Given the description of an element on the screen output the (x, y) to click on. 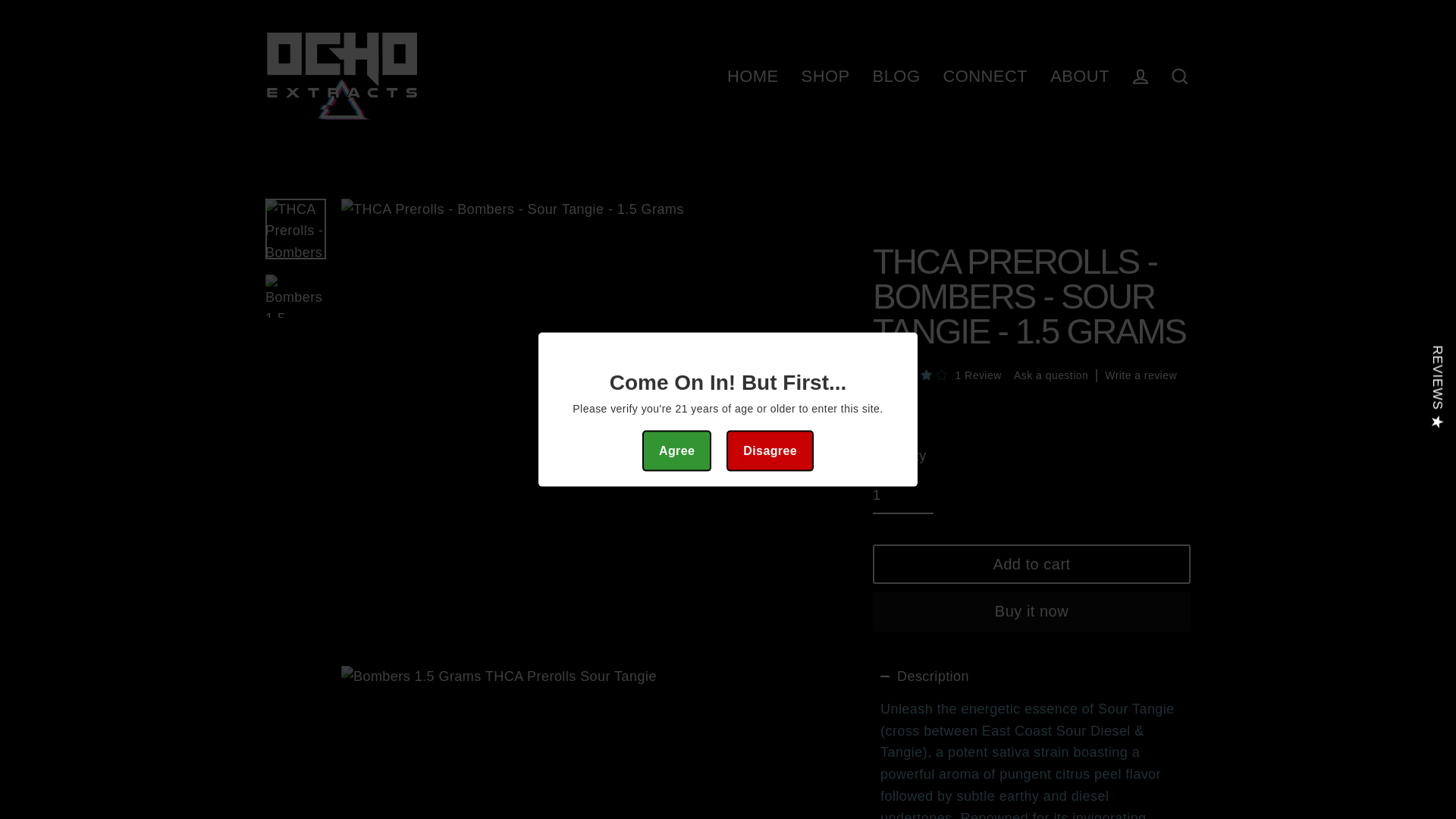
1 (902, 496)
